Given the description of an element on the screen output the (x, y) to click on. 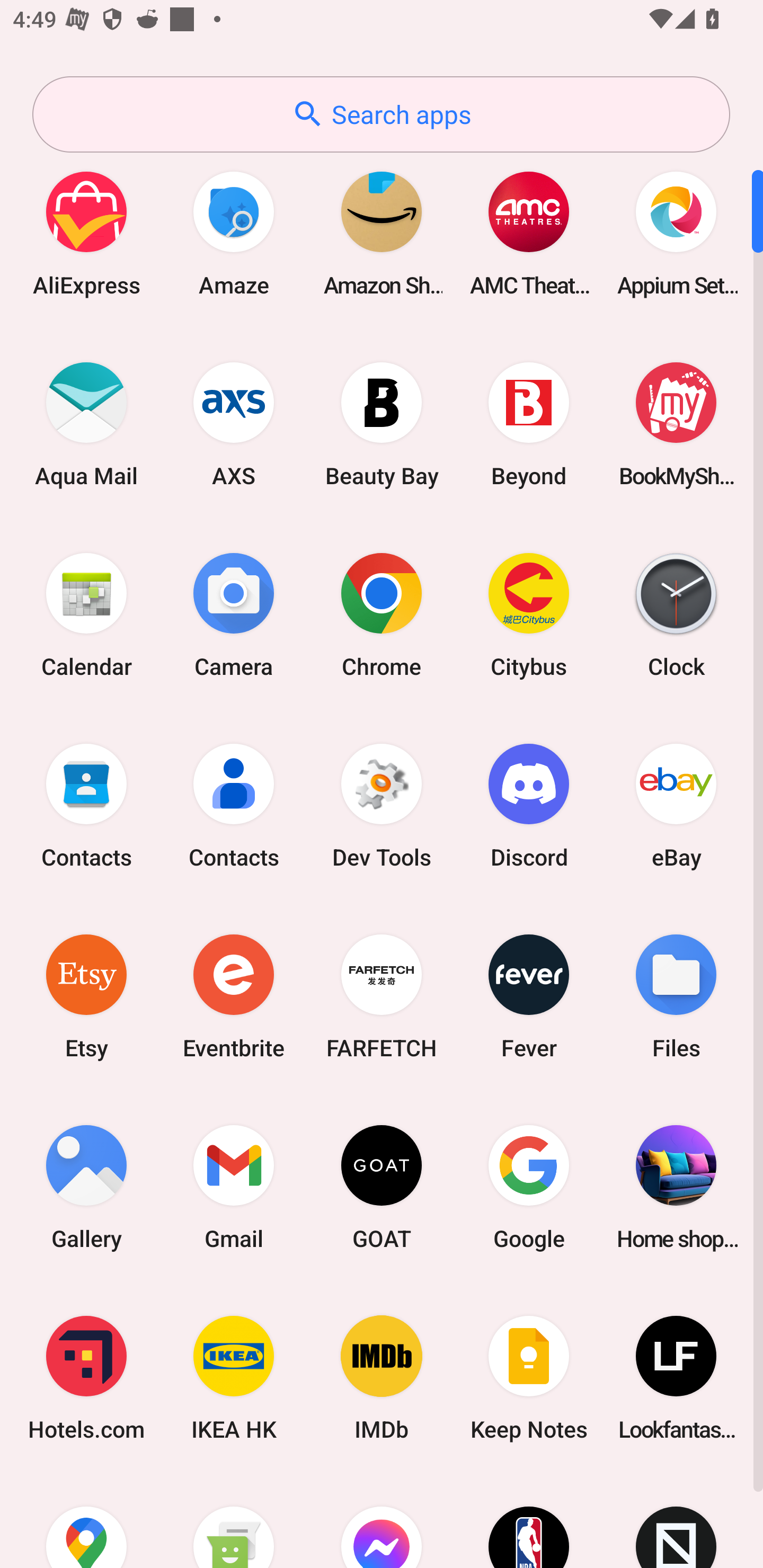
  Search apps (381, 114)
AliExpress (86, 233)
Amaze (233, 233)
Amazon Shopping (381, 233)
AMC Theatres (528, 233)
Appium Settings (676, 233)
Aqua Mail (86, 424)
AXS (233, 424)
Beauty Bay (381, 424)
Beyond (528, 424)
BookMyShow (676, 424)
Calendar (86, 614)
Camera (233, 614)
Chrome (381, 614)
Citybus (528, 614)
Clock (676, 614)
Contacts (86, 805)
Contacts (233, 805)
Dev Tools (381, 805)
Discord (528, 805)
eBay (676, 805)
Etsy (86, 996)
Eventbrite (233, 996)
FARFETCH (381, 996)
Fever (528, 996)
Files (676, 996)
Gallery (86, 1186)
Gmail (233, 1186)
GOAT (381, 1186)
Google (528, 1186)
Home shopping (676, 1186)
Hotels.com (86, 1377)
IKEA HK (233, 1377)
IMDb (381, 1377)
Keep Notes (528, 1377)
Lookfantastic (676, 1377)
